Given the description of an element on the screen output the (x, y) to click on. 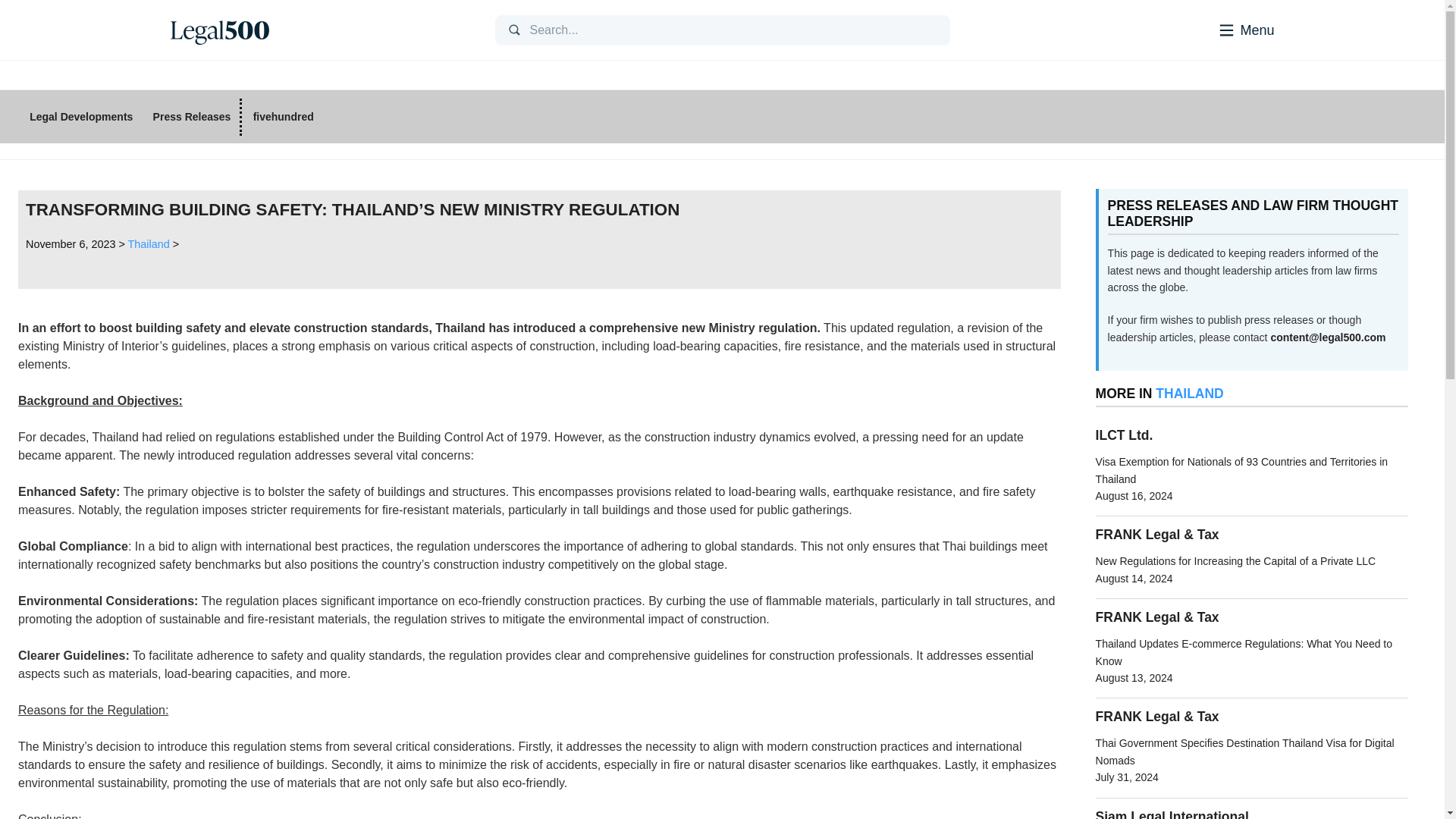
Home (320, 30)
Press Releases (191, 116)
Legal Developments (81, 116)
Menu (1225, 29)
Legal 500 (218, 30)
